Given the description of an element on the screen output the (x, y) to click on. 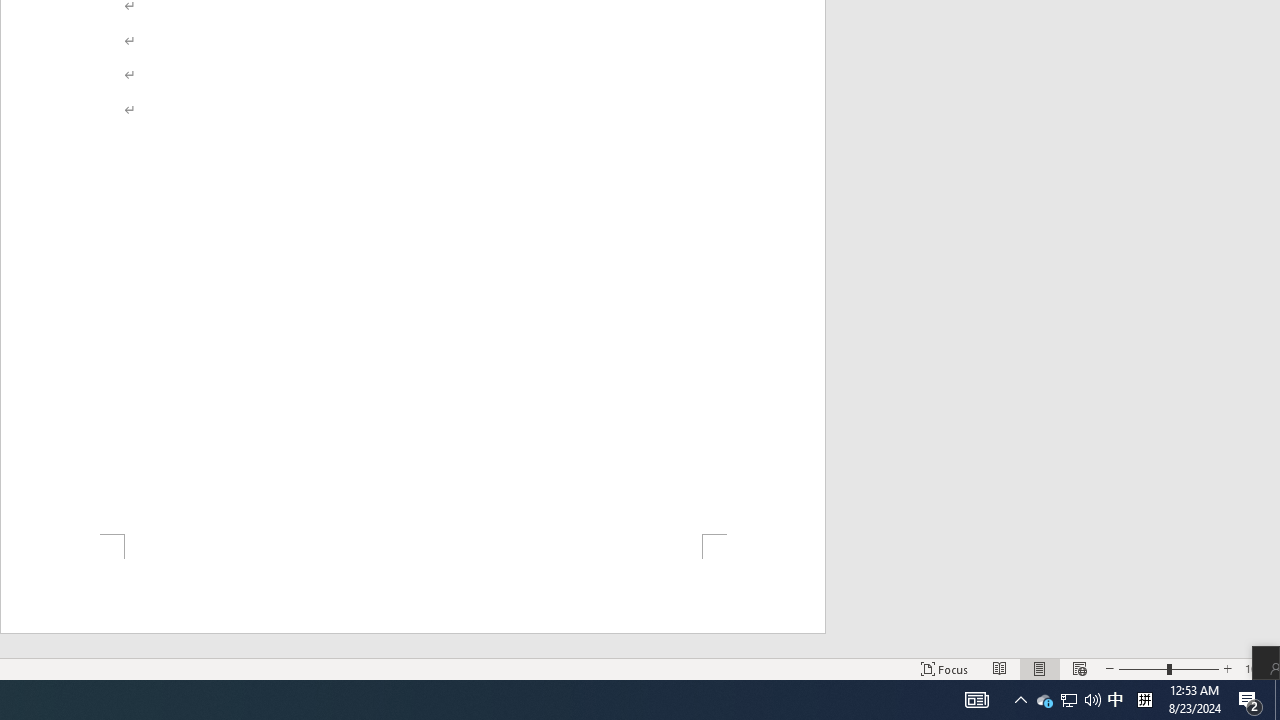
Print Layout (1039, 668)
Zoom In (1227, 668)
Zoom (1168, 668)
Zoom Out (1142, 668)
Zoom 104% (1258, 668)
Read Mode (1000, 668)
Web Layout (1079, 668)
Focus  (944, 668)
